Given the description of an element on the screen output the (x, y) to click on. 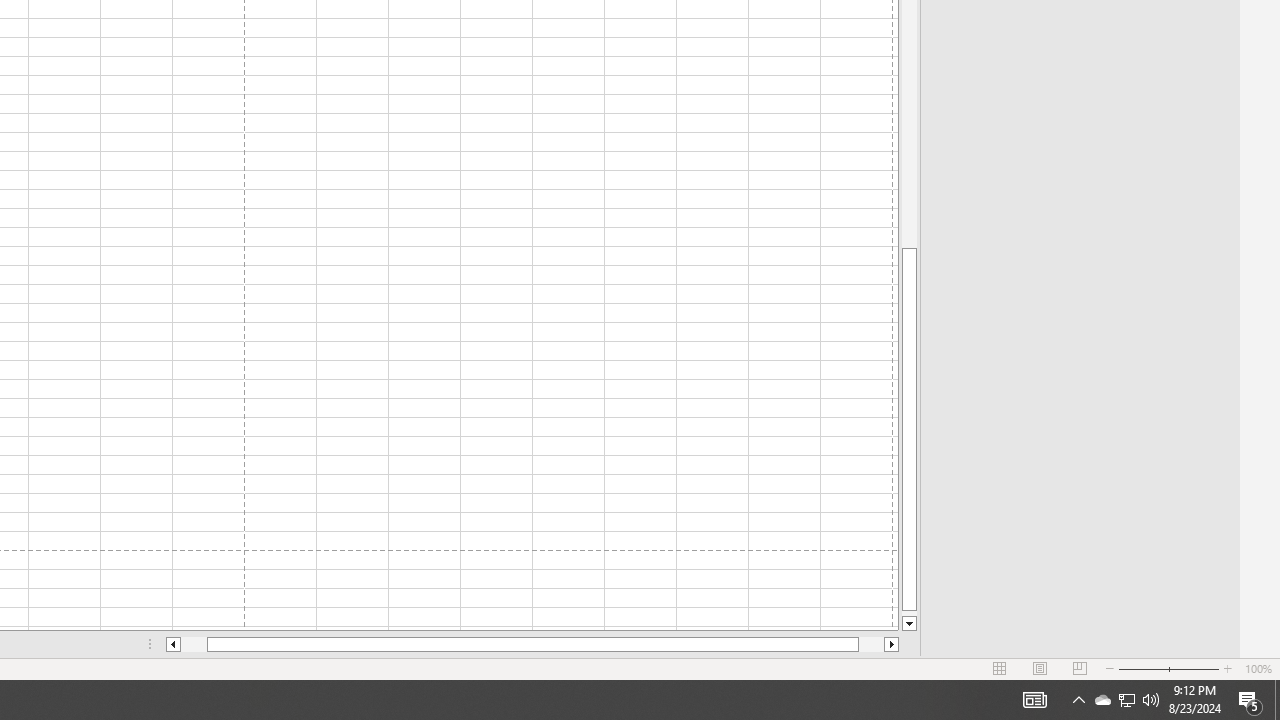
Page left (193, 644)
